Given the description of an element on the screen output the (x, y) to click on. 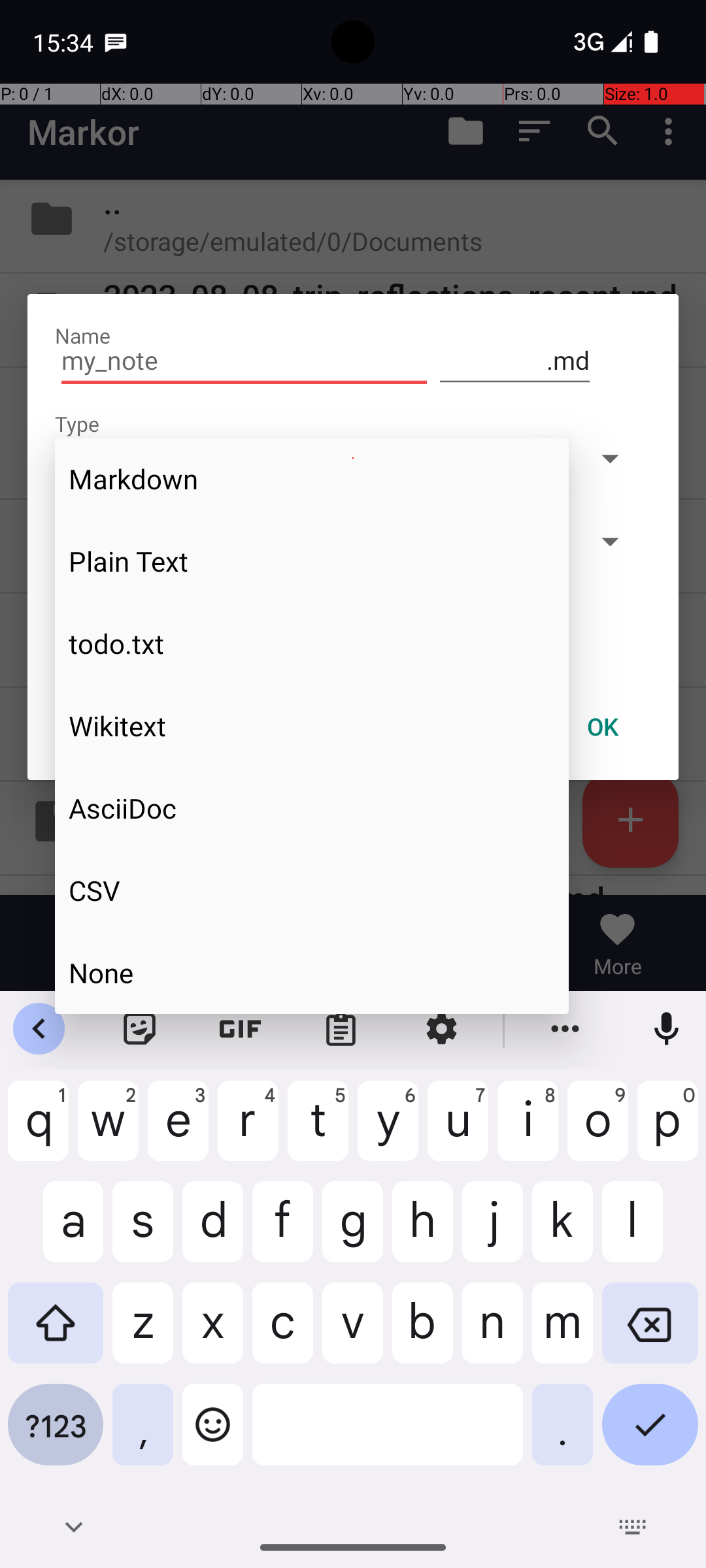
Plain Text Element type: android.widget.TextView (311, 561)
todo.txt Element type: android.widget.TextView (311, 643)
AsciiDoc Element type: android.widget.TextView (311, 808)
CSV Element type: android.widget.TextView (311, 890)
None Element type: android.widget.TextView (311, 972)
